Given the description of an element on the screen output the (x, y) to click on. 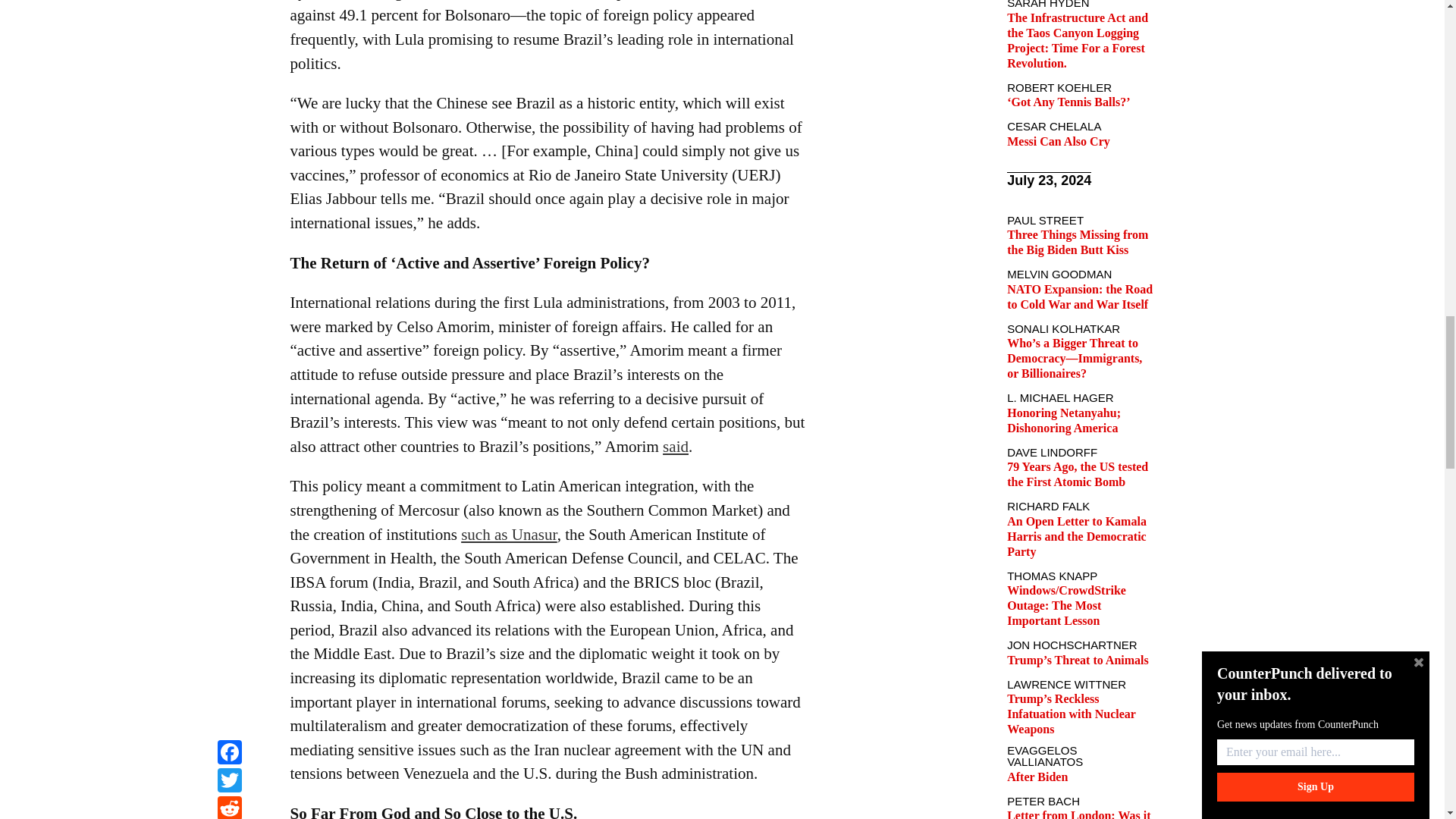
said (675, 446)
such as Unasur (509, 534)
